Given the description of an element on the screen output the (x, y) to click on. 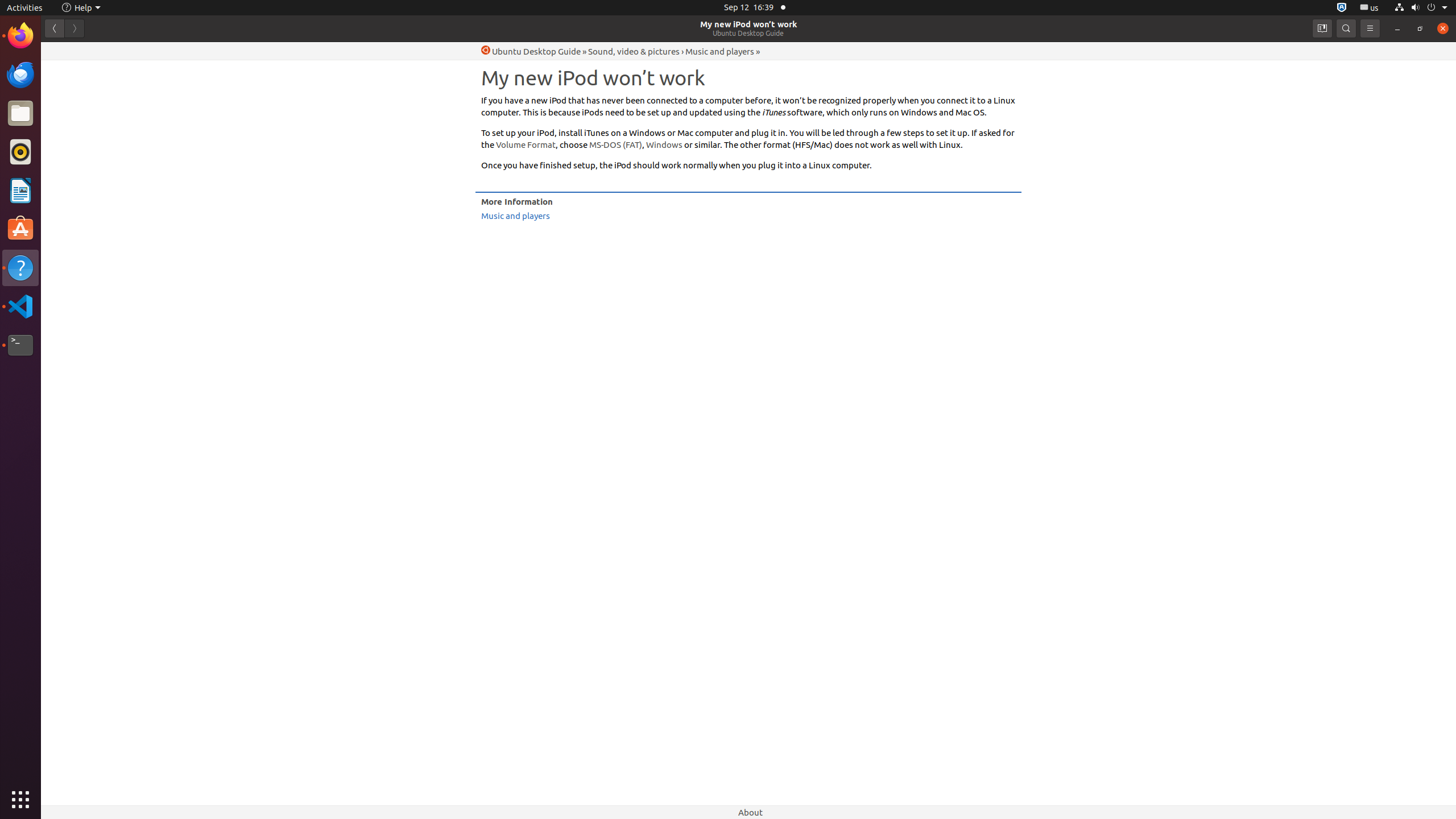
Help Ubuntu Desktop Guide Element type: link (530, 50)
